Given the description of an element on the screen output the (x, y) to click on. 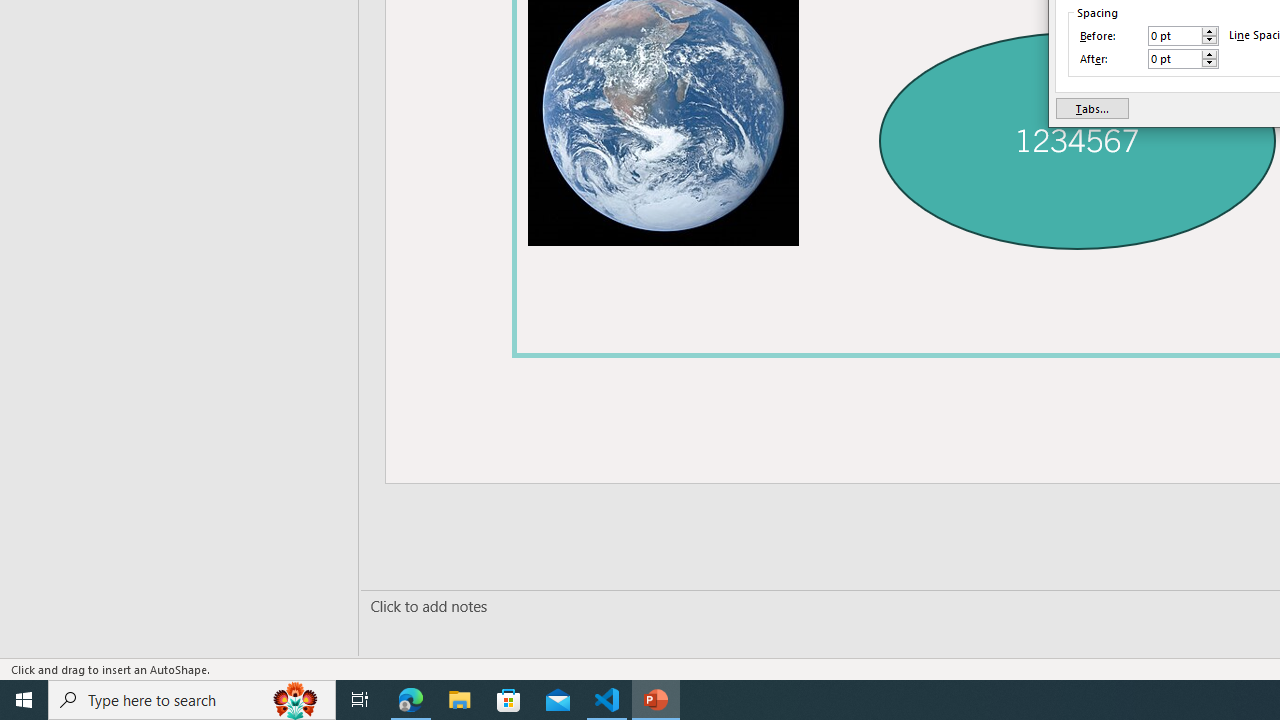
After (1183, 58)
